Given the description of an element on the screen output the (x, y) to click on. 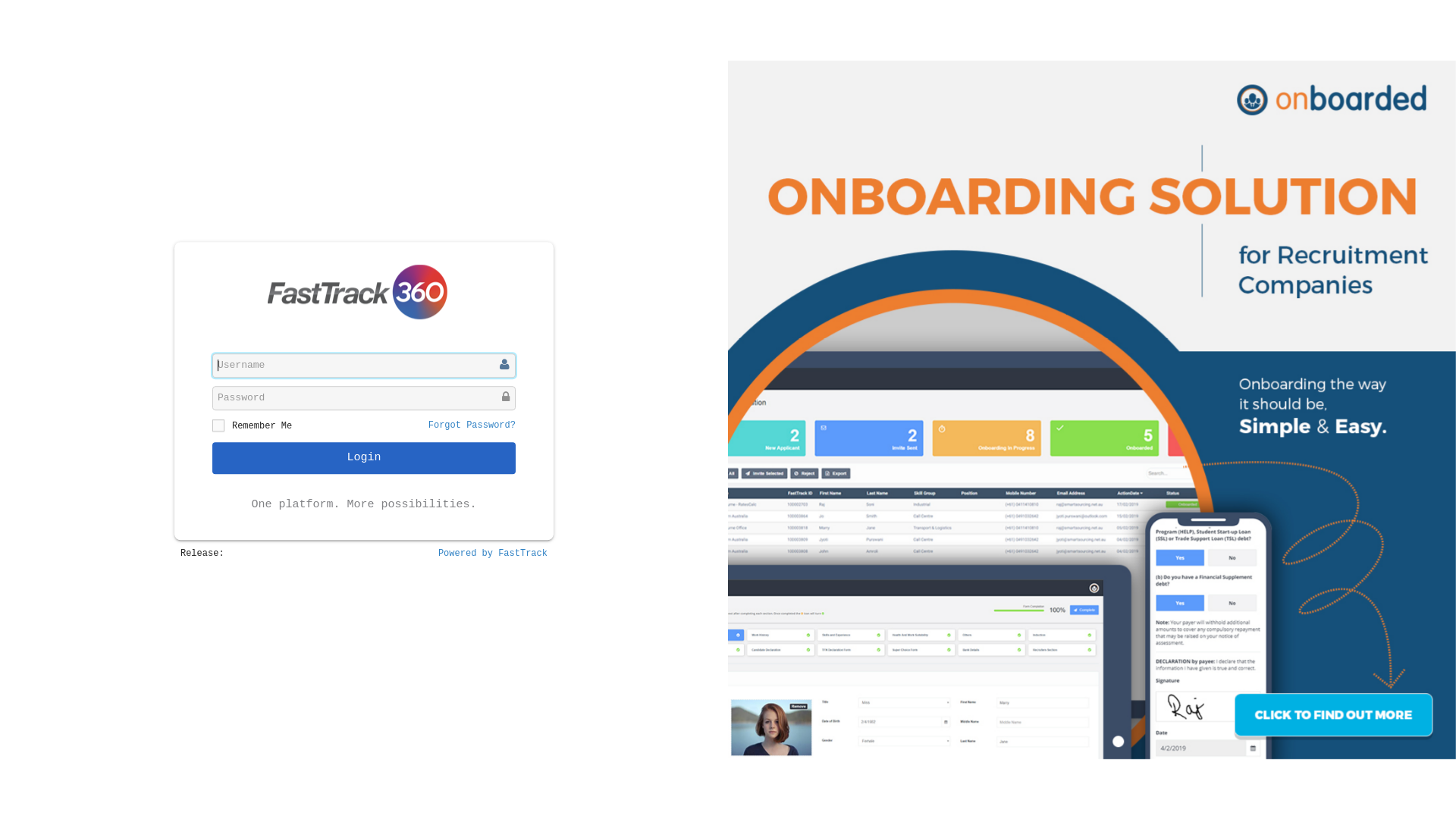
Login Element type: text (363, 457)
Powered by FastTrack Element type: text (492, 553)
Forgot Password? Element type: text (471, 425)
